Given the description of an element on the screen output the (x, y) to click on. 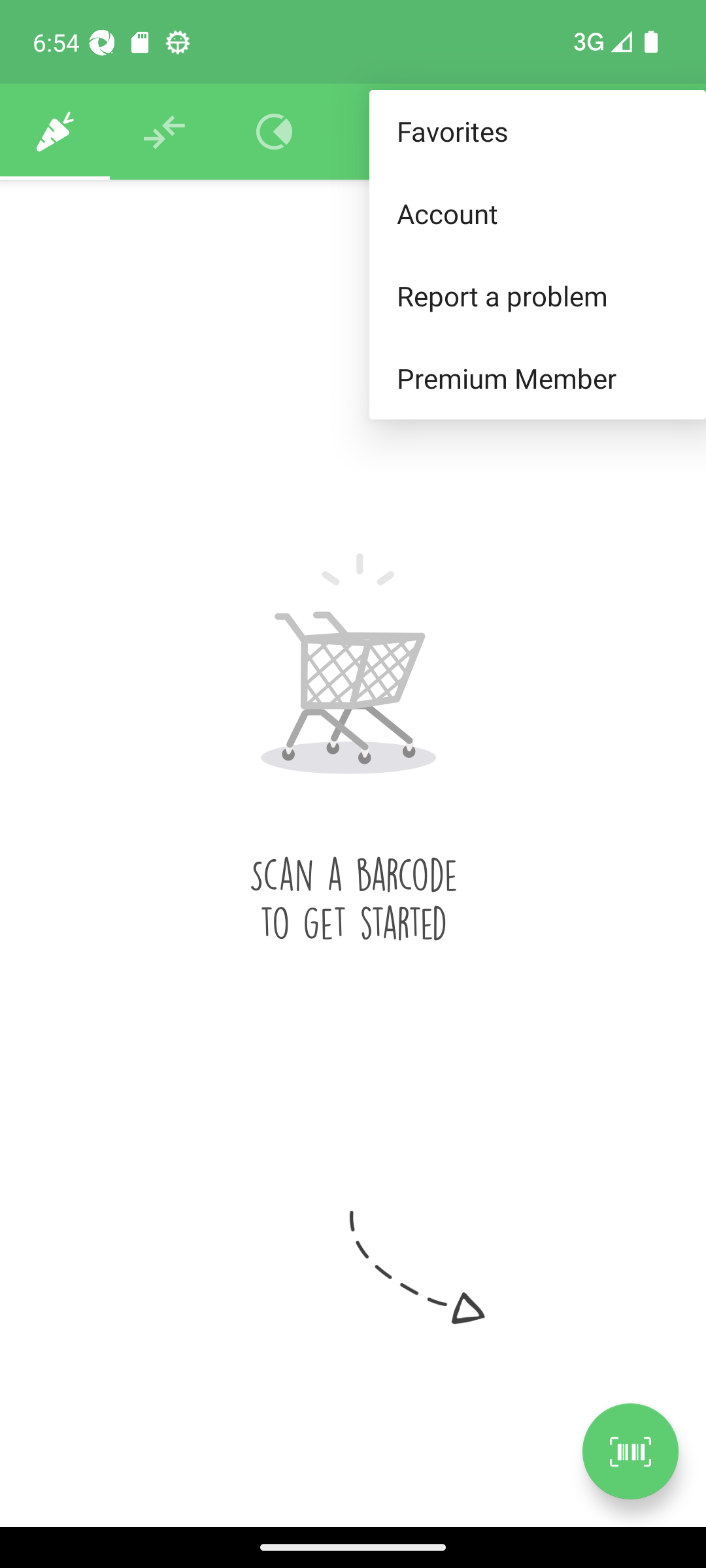
Favorites (537, 131)
Account (537, 213)
Report a problem (537, 295)
Premium Member (537, 378)
